Given the description of an element on the screen output the (x, y) to click on. 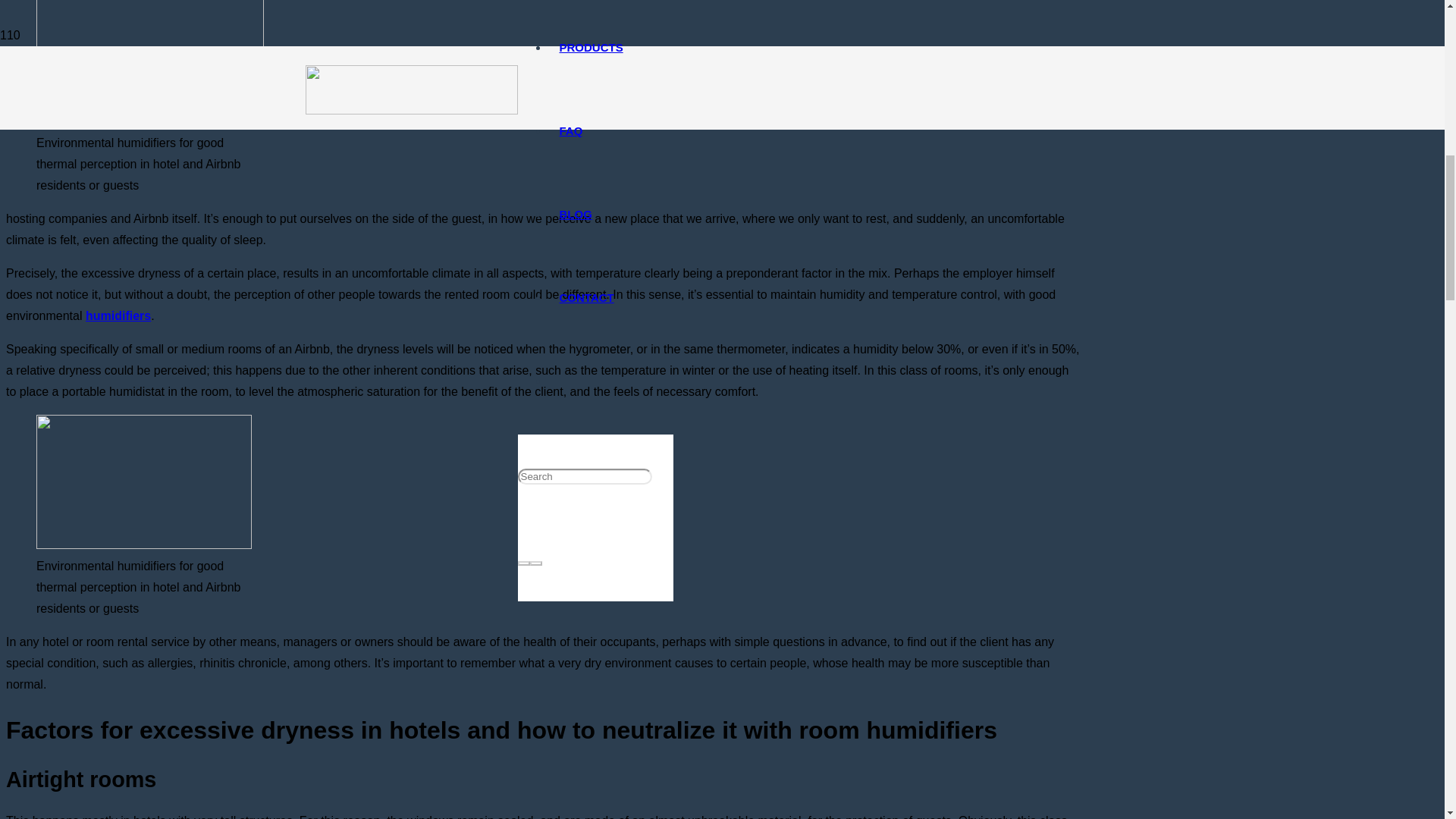
humidifiers (118, 315)
